Given the description of an element on the screen output the (x, y) to click on. 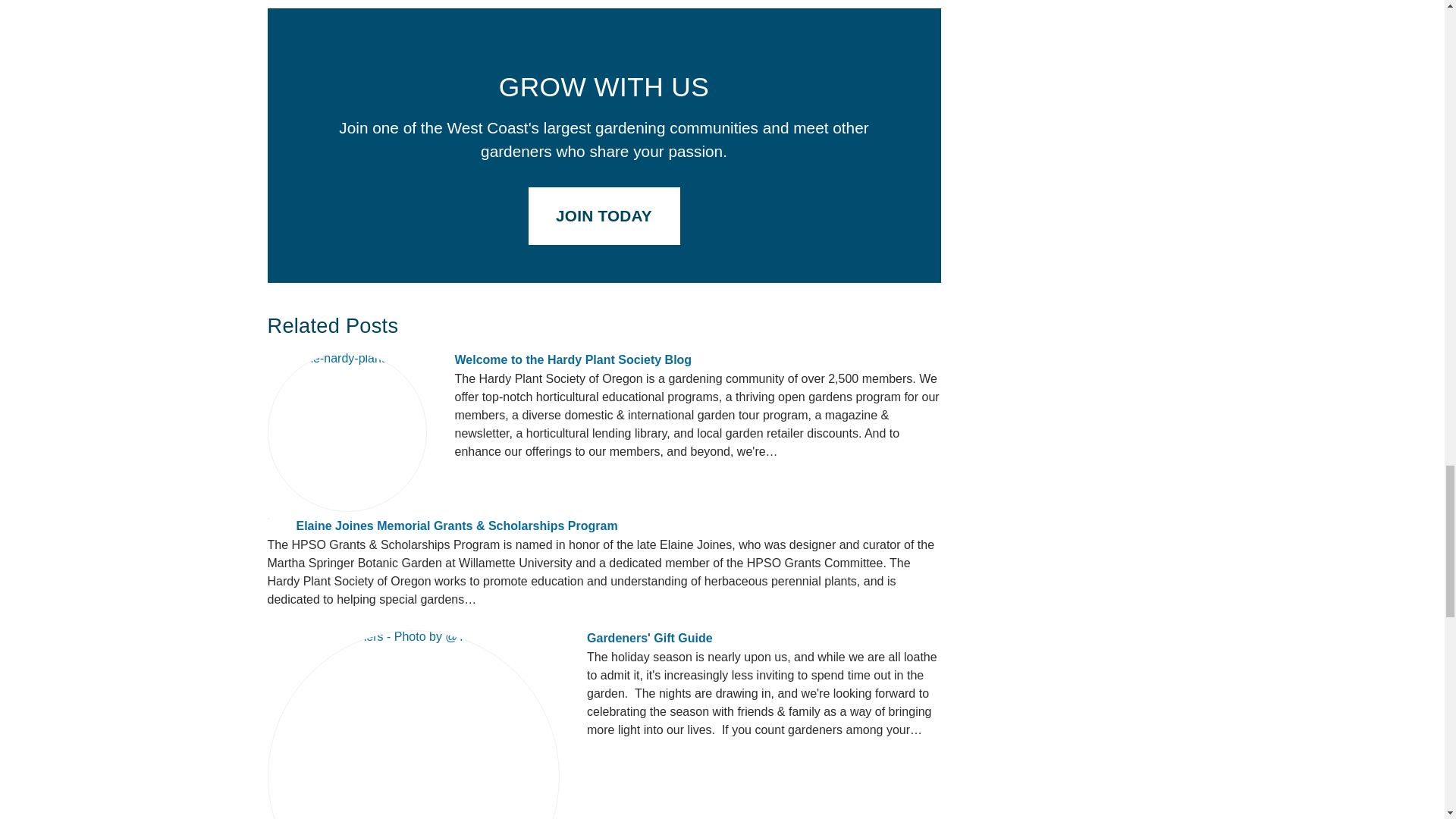
Welcome to the Hardy Plant Society Blog (572, 359)
Gardeners' Gift Guide (649, 637)
JOIN TODAY (603, 216)
